Given the description of an element on the screen output the (x, y) to click on. 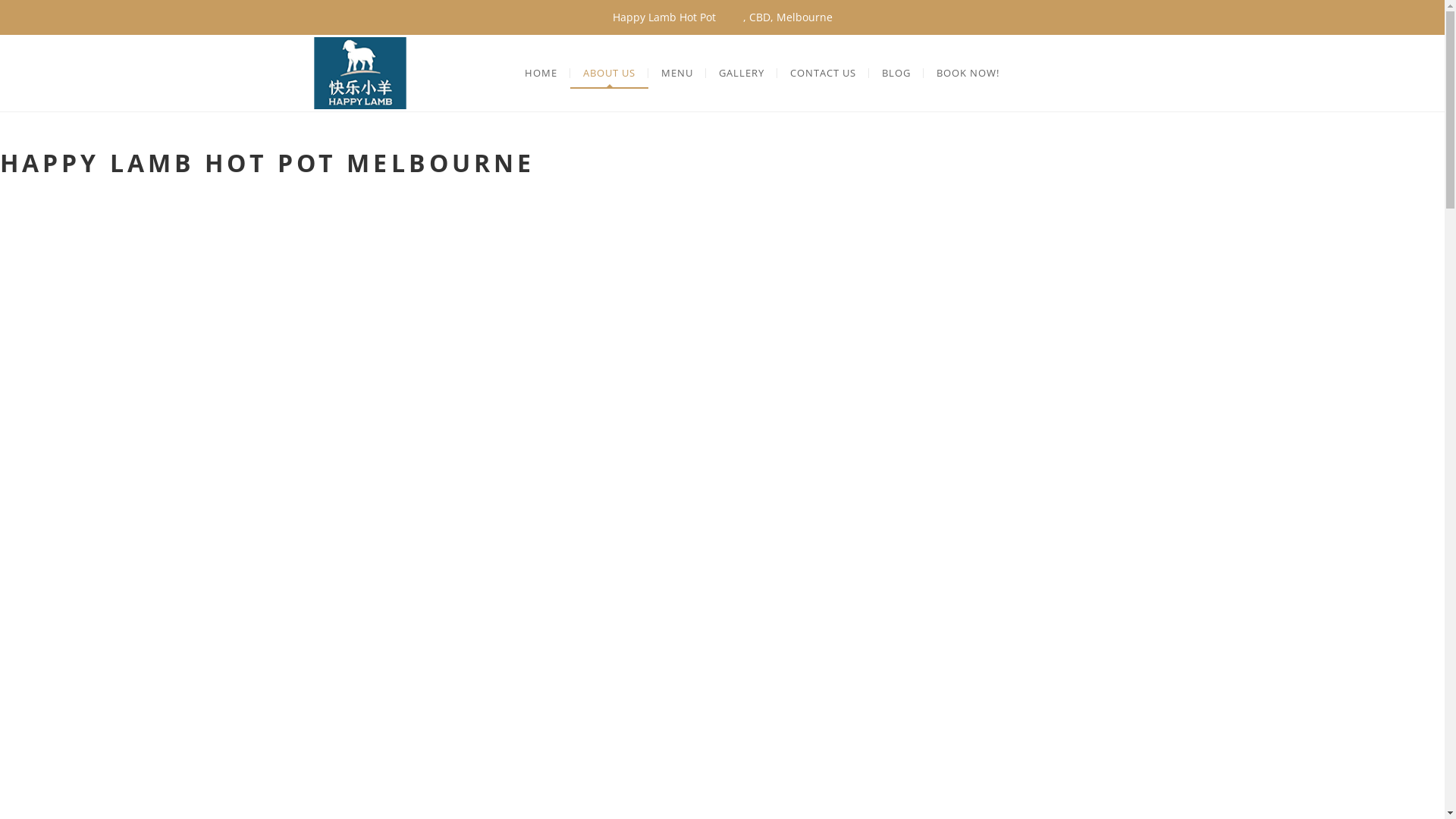
BLOG Element type: text (896, 72)
HOME Element type: text (540, 72)
ABOUT US Element type: text (609, 72)
MENU Element type: text (677, 72)
BOOK NOW! Element type: text (967, 72)
CONTACT US Element type: text (823, 72)
GALLERY Element type: text (741, 72)
